Given the description of an element on the screen output the (x, y) to click on. 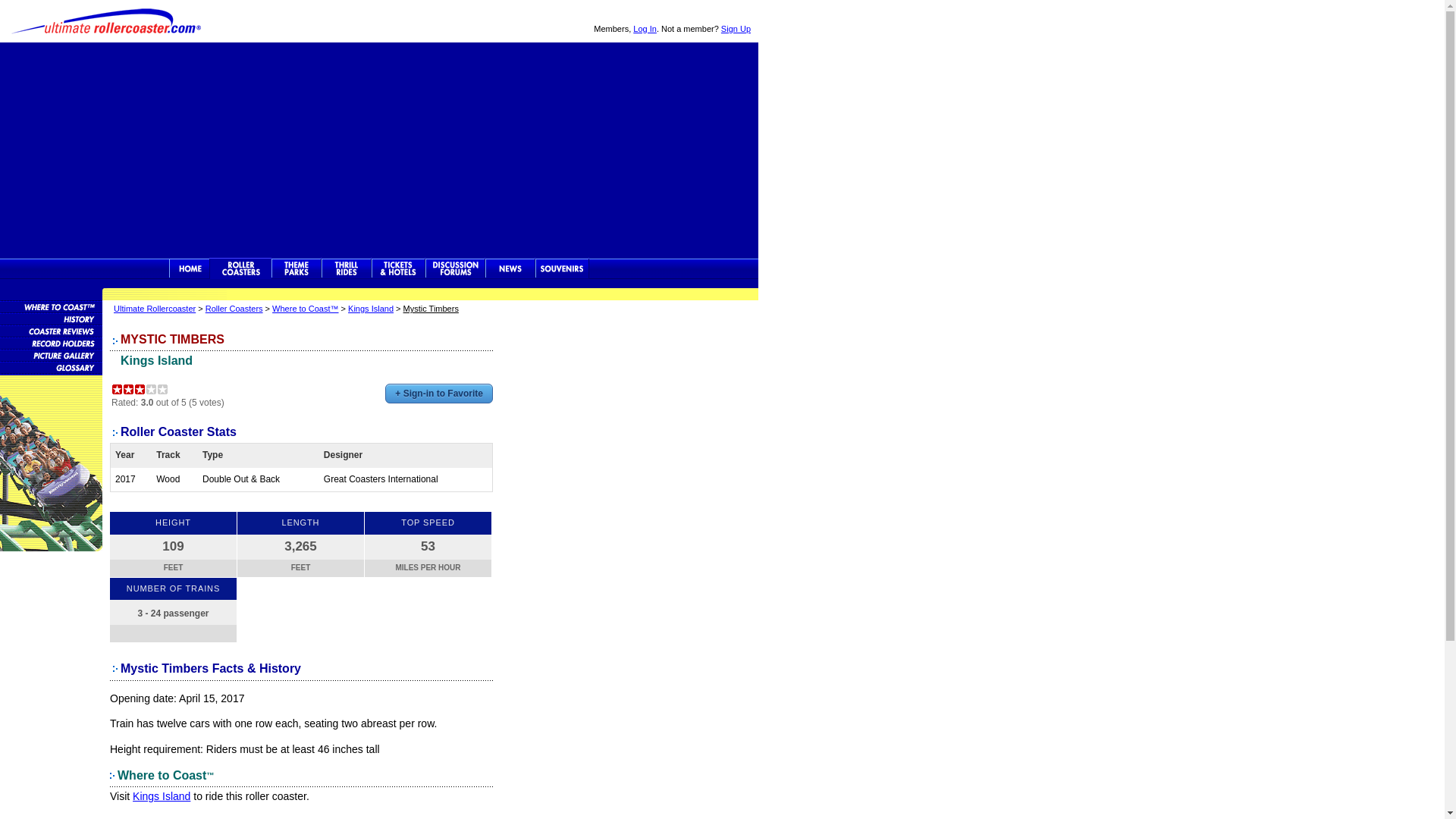
Sign Up (735, 28)
4 out of 5 (151, 389)
3 (139, 389)
Advertisement (614, 402)
Theme Parks (295, 268)
5 (162, 389)
Log In (644, 28)
Kings Island (161, 796)
4 (151, 389)
Discussion Forums (454, 268)
2 (127, 389)
Ultimate Rollercoaster (154, 307)
Advertisement (379, 148)
3 out of 5 (139, 389)
1 out of 5 (117, 389)
